Given the description of an element on the screen output the (x, y) to click on. 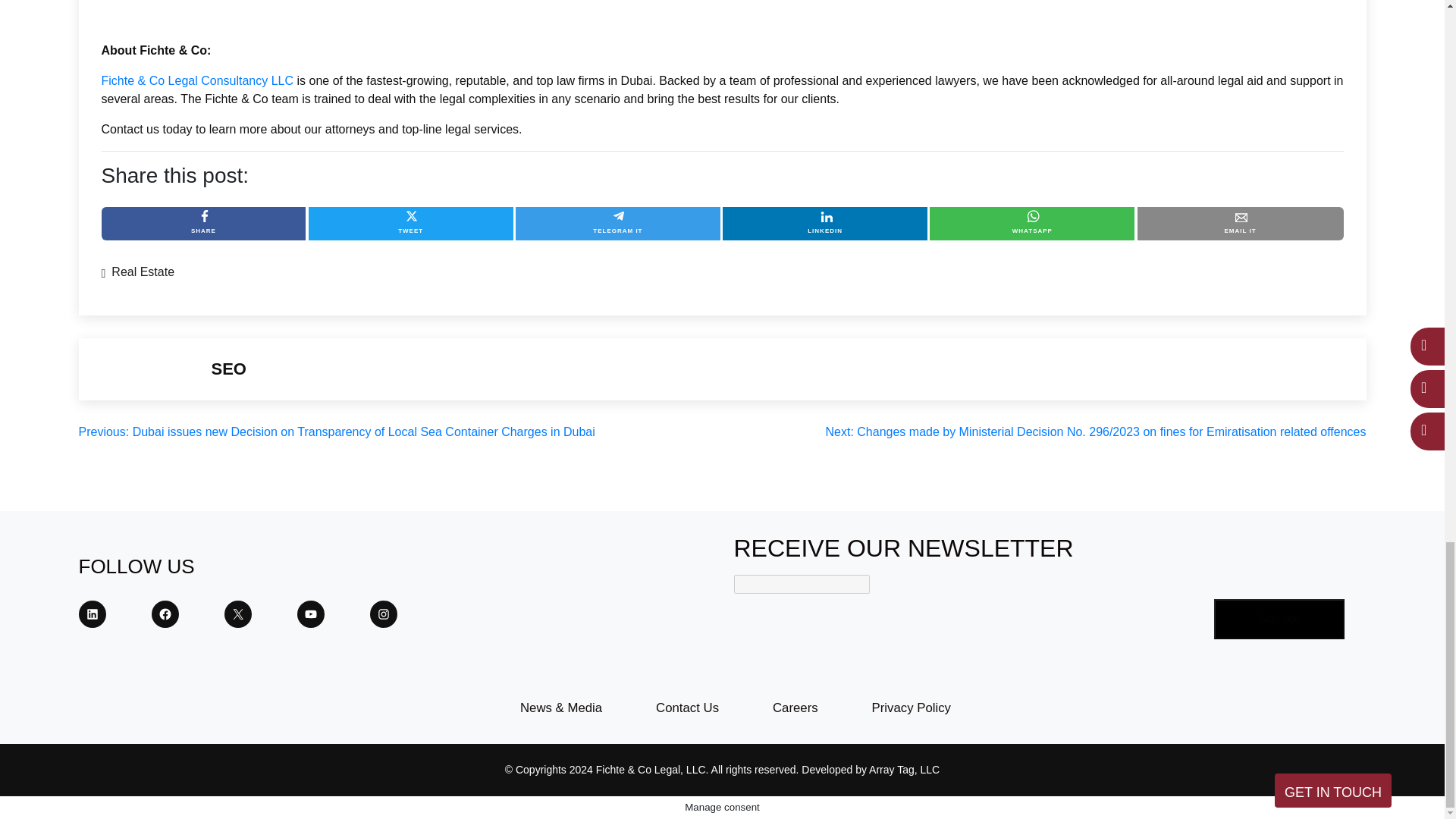
Array Tag, LLC (904, 769)
TELEGRAM IT (617, 223)
Share on WhatsApp (1032, 223)
SHARE (203, 223)
Sign Up! (1279, 618)
Share on Facebook (203, 223)
WHATSAPP (1032, 223)
Share on Telegram (617, 223)
Share on LinkedIn (824, 223)
